Given the description of an element on the screen output the (x, y) to click on. 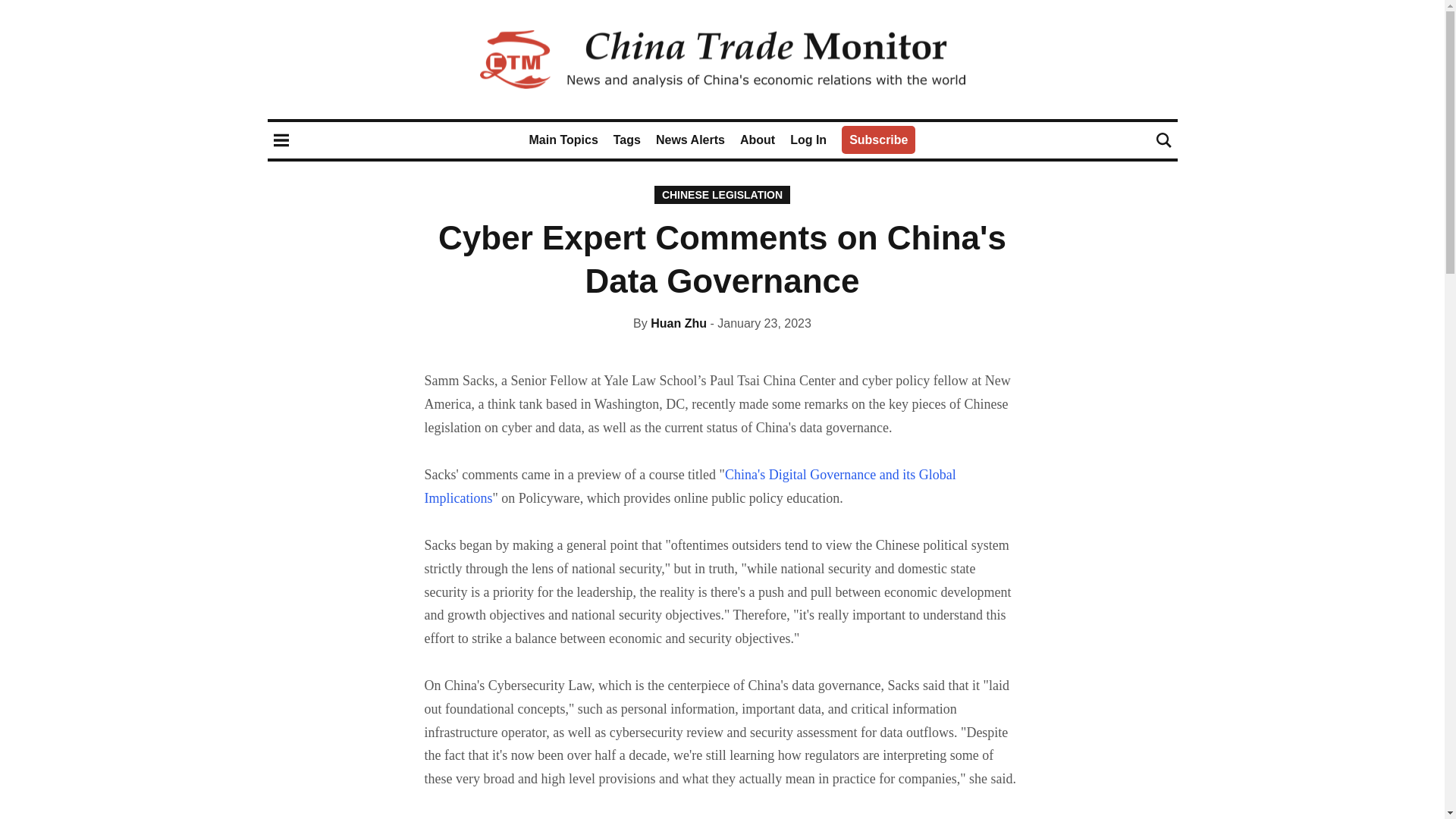
News Alerts (690, 139)
About (756, 139)
Log In (808, 139)
Tags (626, 139)
Subscribe (878, 139)
23 January, 2023 (760, 323)
